Given the description of an element on the screen output the (x, y) to click on. 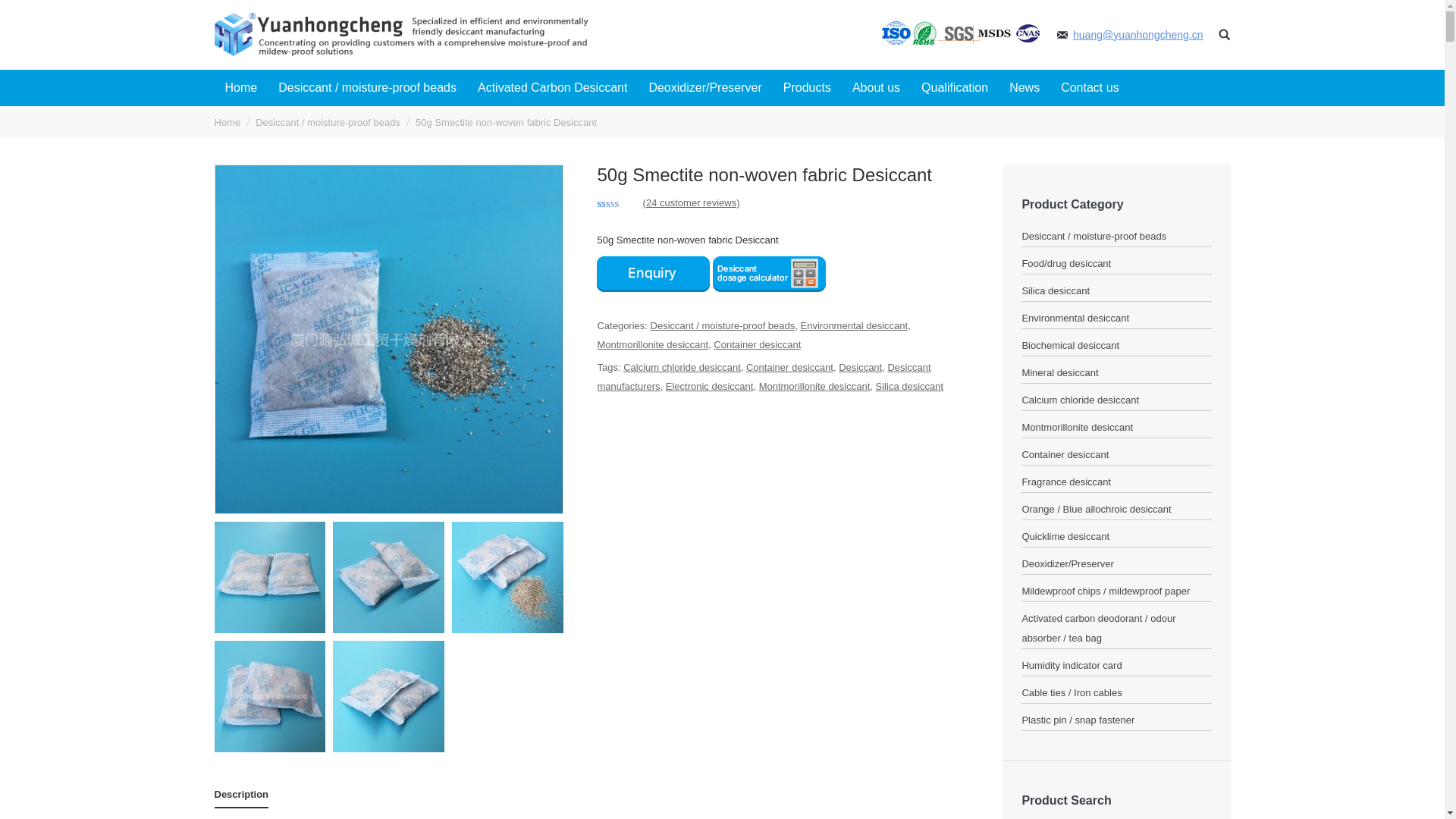
Products (807, 87)
Home (227, 122)
Activated Carbon Desiccant (552, 87)
About us (876, 87)
News (1023, 87)
Container desiccant (756, 344)
Rated 5 out of 5 (617, 204)
Montmorillonite desiccant (651, 344)
Environmental desiccant (854, 325)
Go! (18, 14)
Calcium chloride desiccant (682, 367)
Contact us (1089, 87)
Home (240, 87)
Qualification (954, 87)
Home (227, 122)
